Given the description of an element on the screen output the (x, y) to click on. 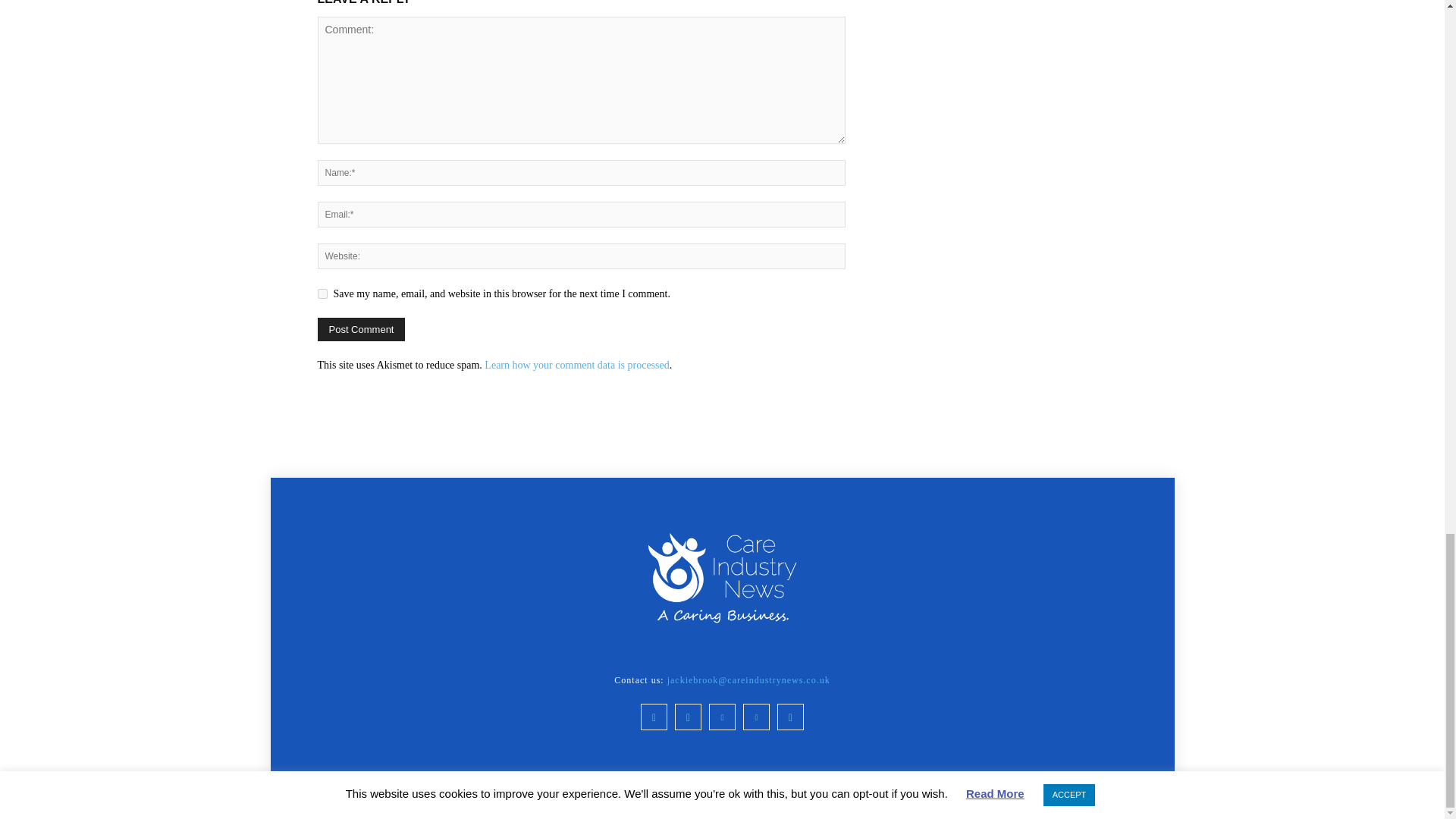
yes (321, 293)
Post Comment (360, 329)
